Given the description of an element on the screen output the (x, y) to click on. 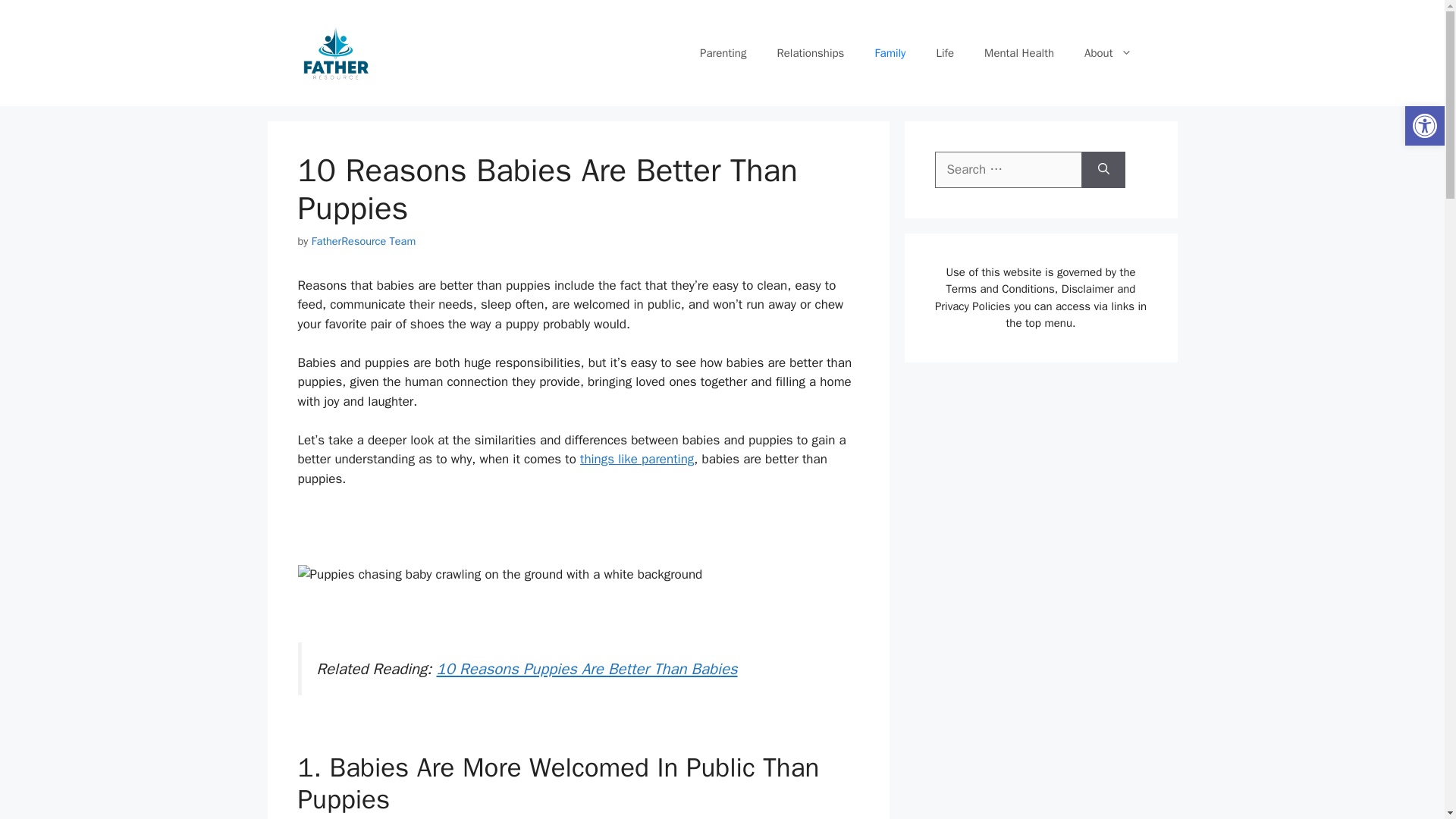
things like parenting (636, 458)
Relationships (810, 53)
FatherResource Team (363, 241)
Accessibility Tools (1424, 125)
Search for: (1007, 169)
Mental Health (1018, 53)
Life (944, 53)
Family (889, 53)
10 Reasons Puppies Are Better Than Babies (587, 668)
View all posts by FatherResource Team (363, 241)
